Given the description of an element on the screen output the (x, y) to click on. 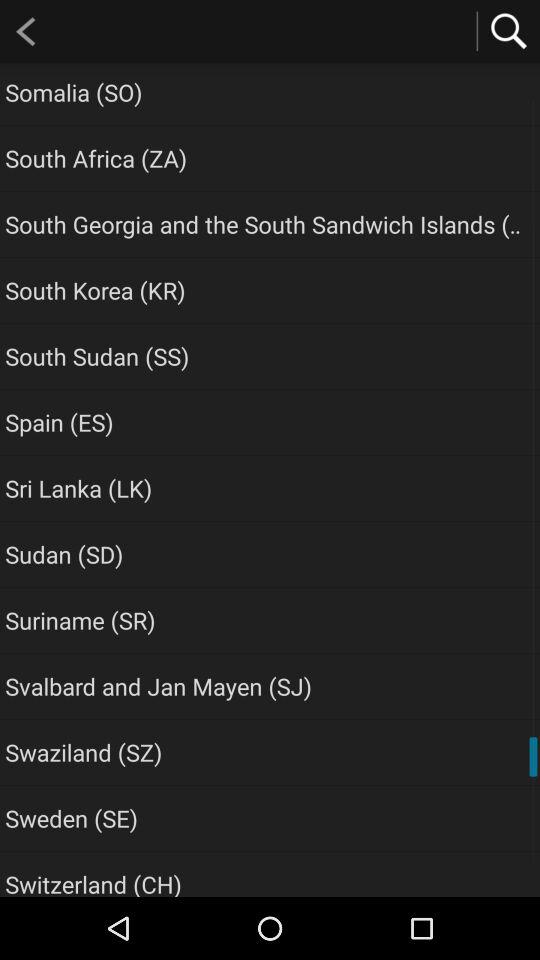
select the app above south georgia and (96, 158)
